Given the description of an element on the screen output the (x, y) to click on. 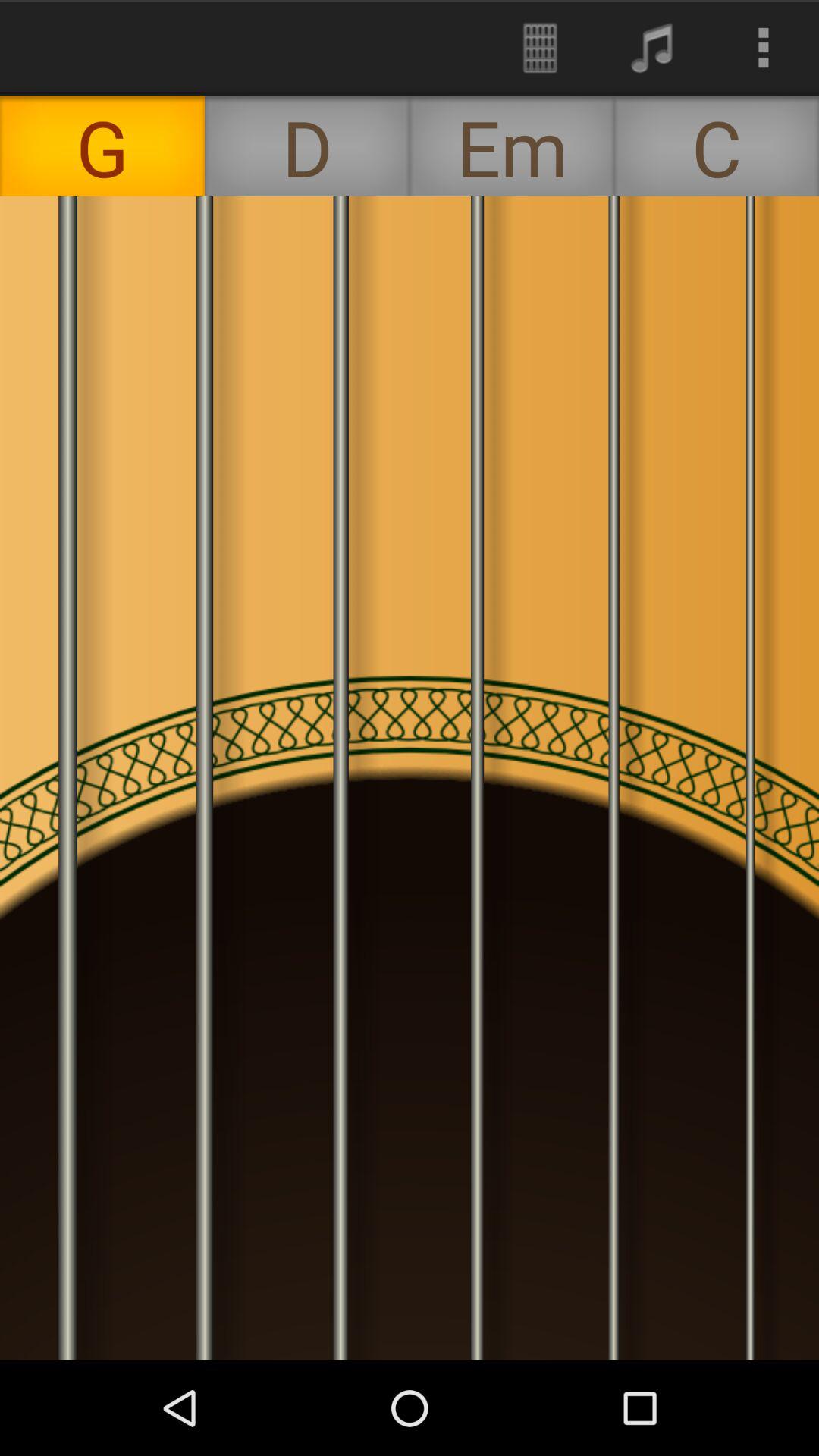
choose the c item (716, 145)
